Given the description of an element on the screen output the (x, y) to click on. 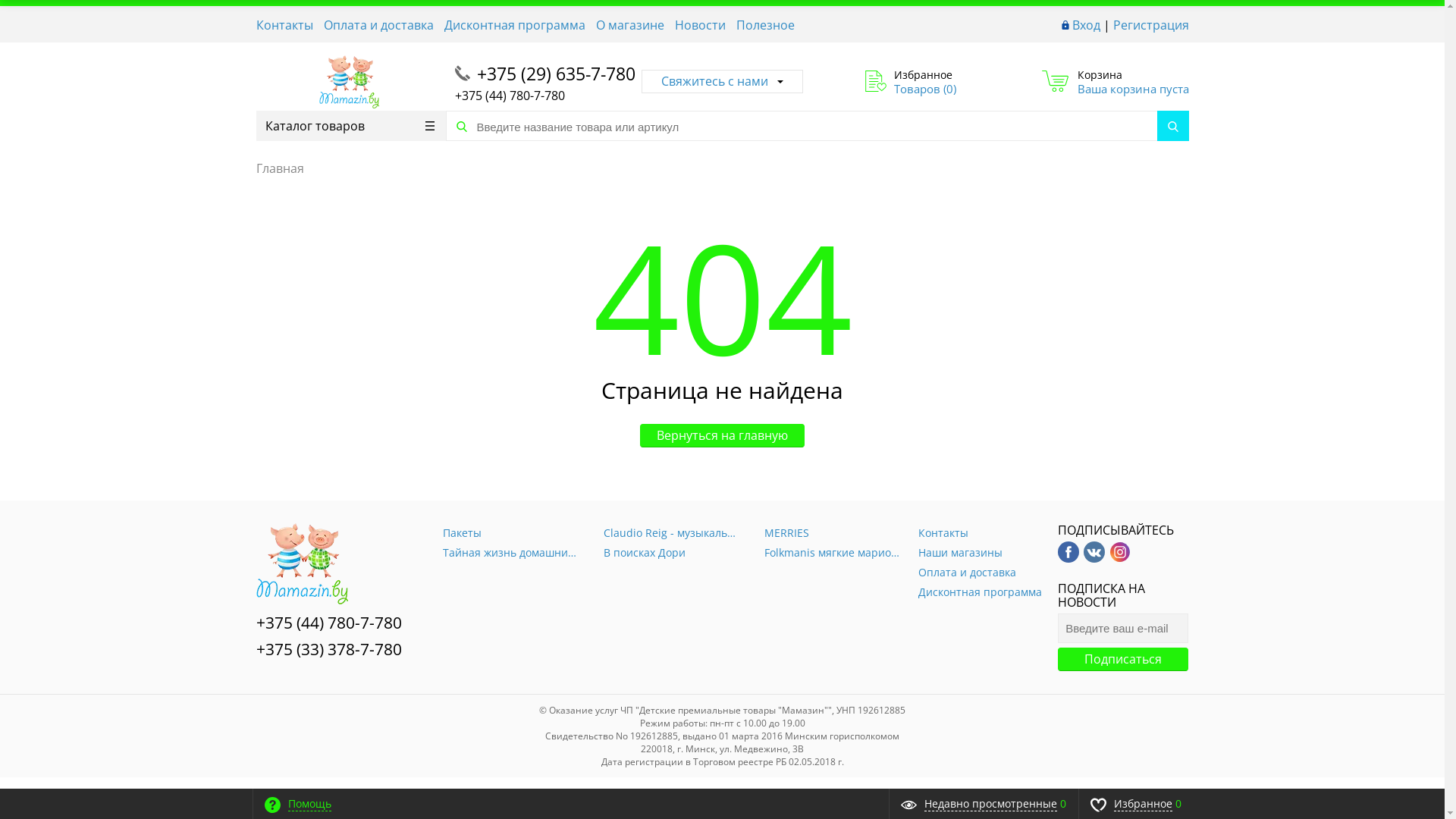
+375 (44) 780-7-780 Element type: text (328, 622)
+375 (29) 635-7-780 Element type: text (555, 73)
+375 (33) 378-7-780 Element type: text (328, 648)
MERRIES Element type: text (833, 532)
